Given the description of an element on the screen output the (x, y) to click on. 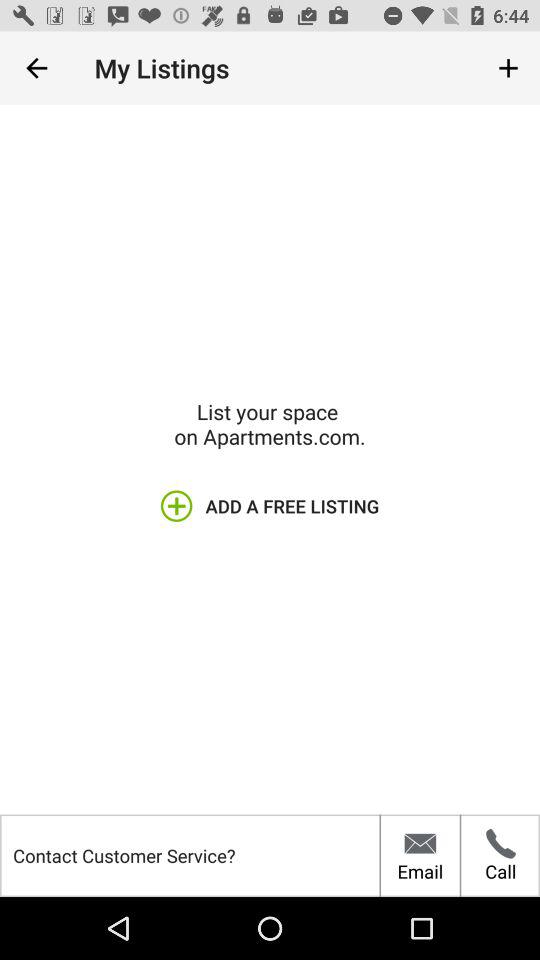
tap the email item (420, 855)
